Given the description of an element on the screen output the (x, y) to click on. 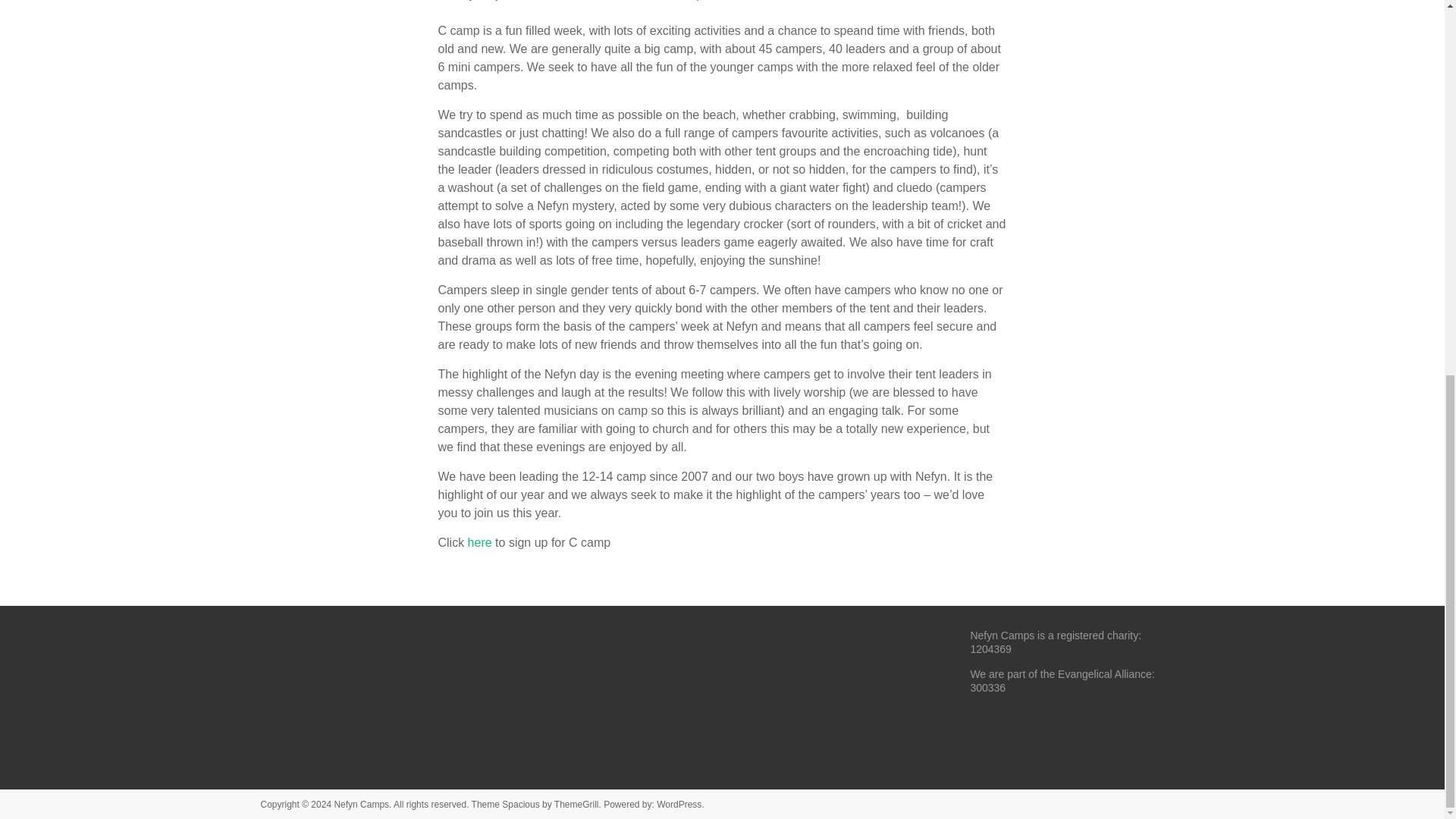
Spacious (520, 804)
here (479, 542)
WordPress (678, 804)
Nefyn Camps (360, 804)
WordPress (678, 804)
Spacious (520, 804)
Nefyn Camps (360, 804)
